Given the description of an element on the screen output the (x, y) to click on. 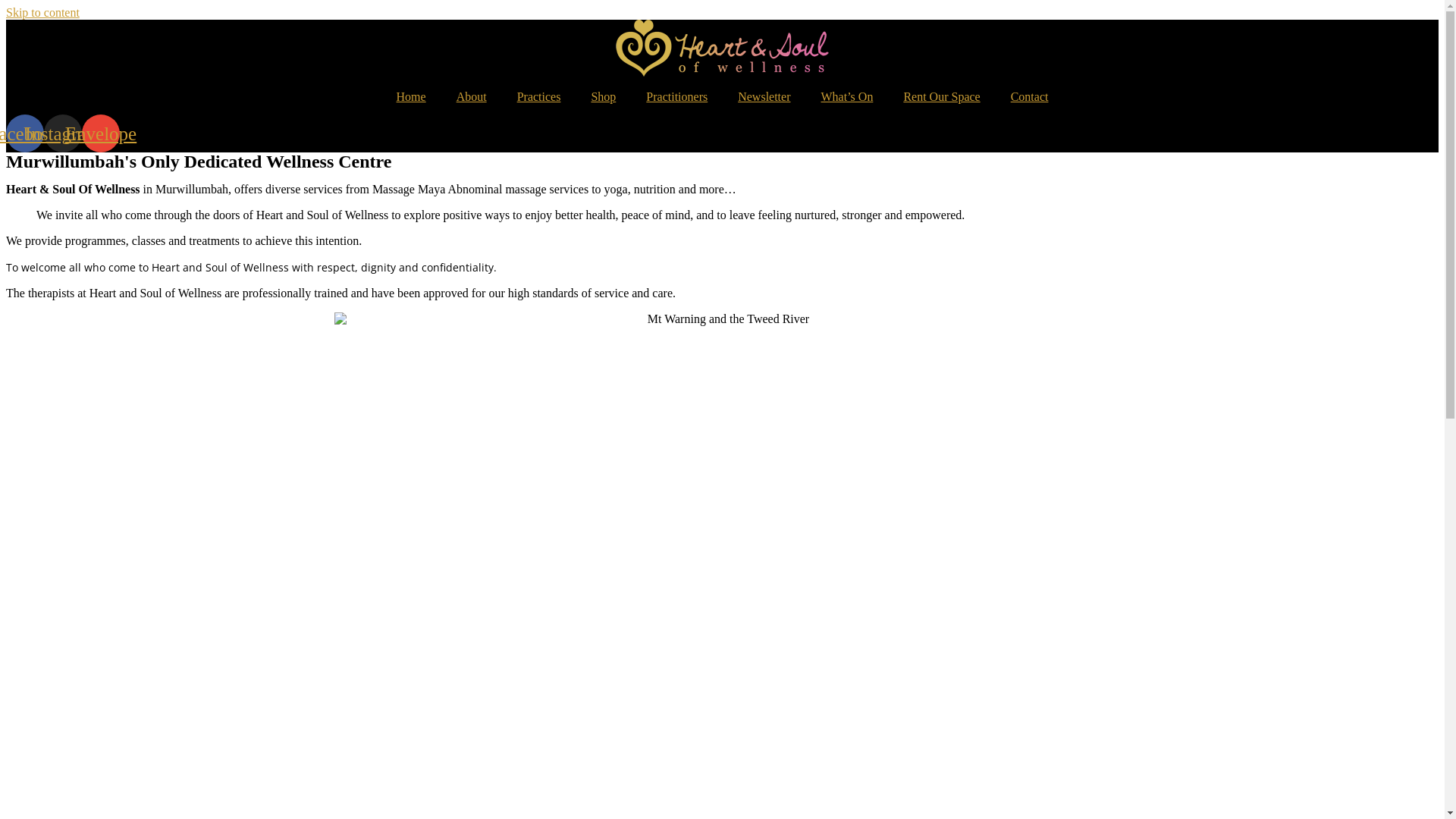
Envelope Element type: text (100, 133)
Practitioners Element type: text (676, 96)
Facebook Element type: text (24, 133)
Contact Element type: text (1029, 96)
About Element type: text (471, 96)
Rent Our Space Element type: text (941, 96)
Shop Element type: text (602, 96)
Home Element type: text (411, 96)
Instagram Element type: text (62, 133)
Newsletter Element type: text (763, 96)
Practices Element type: text (539, 96)
Skip to content Element type: text (42, 12)
